Given the description of an element on the screen output the (x, y) to click on. 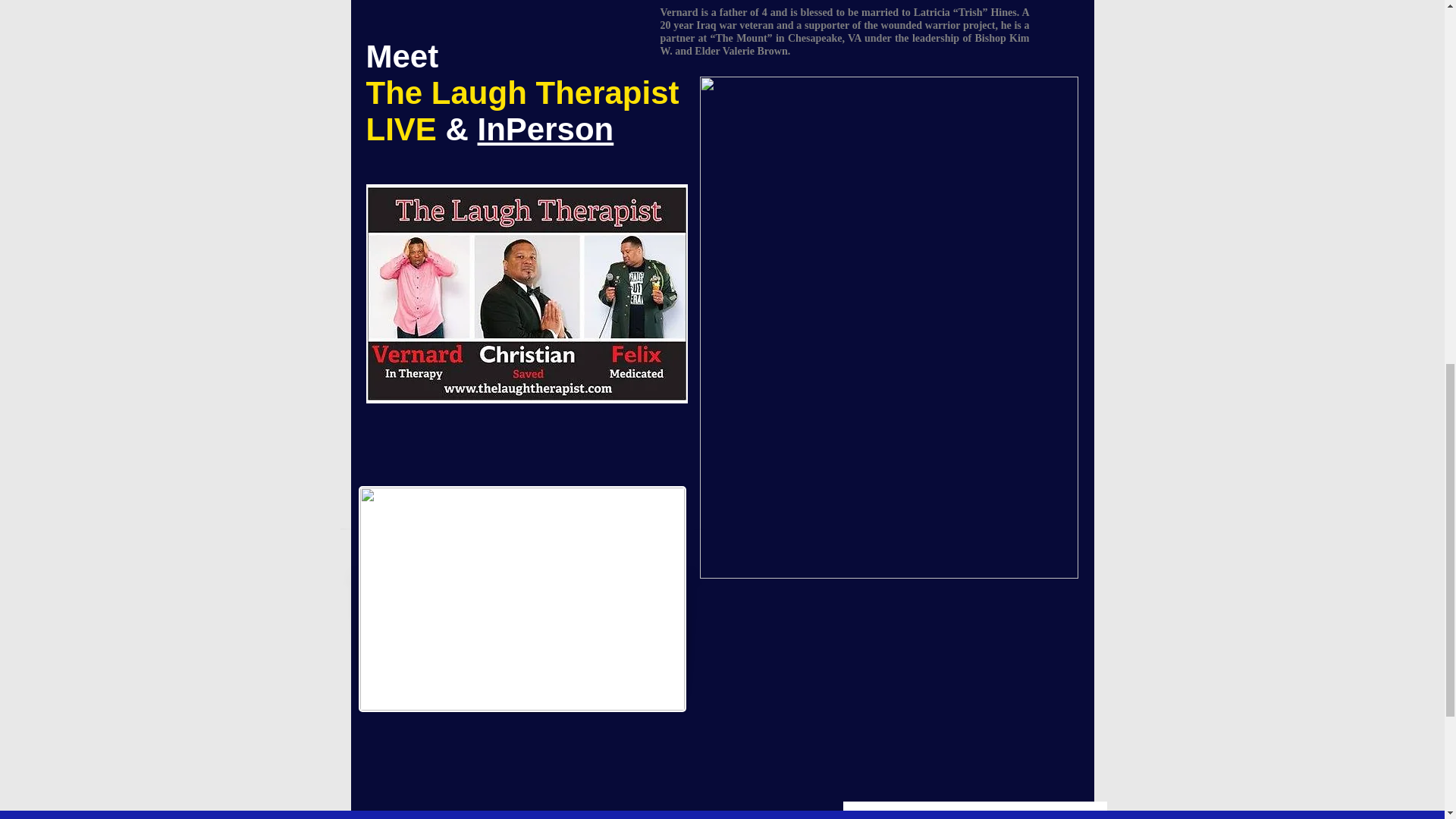
External YouTube (895, 707)
